Given the description of an element on the screen output the (x, y) to click on. 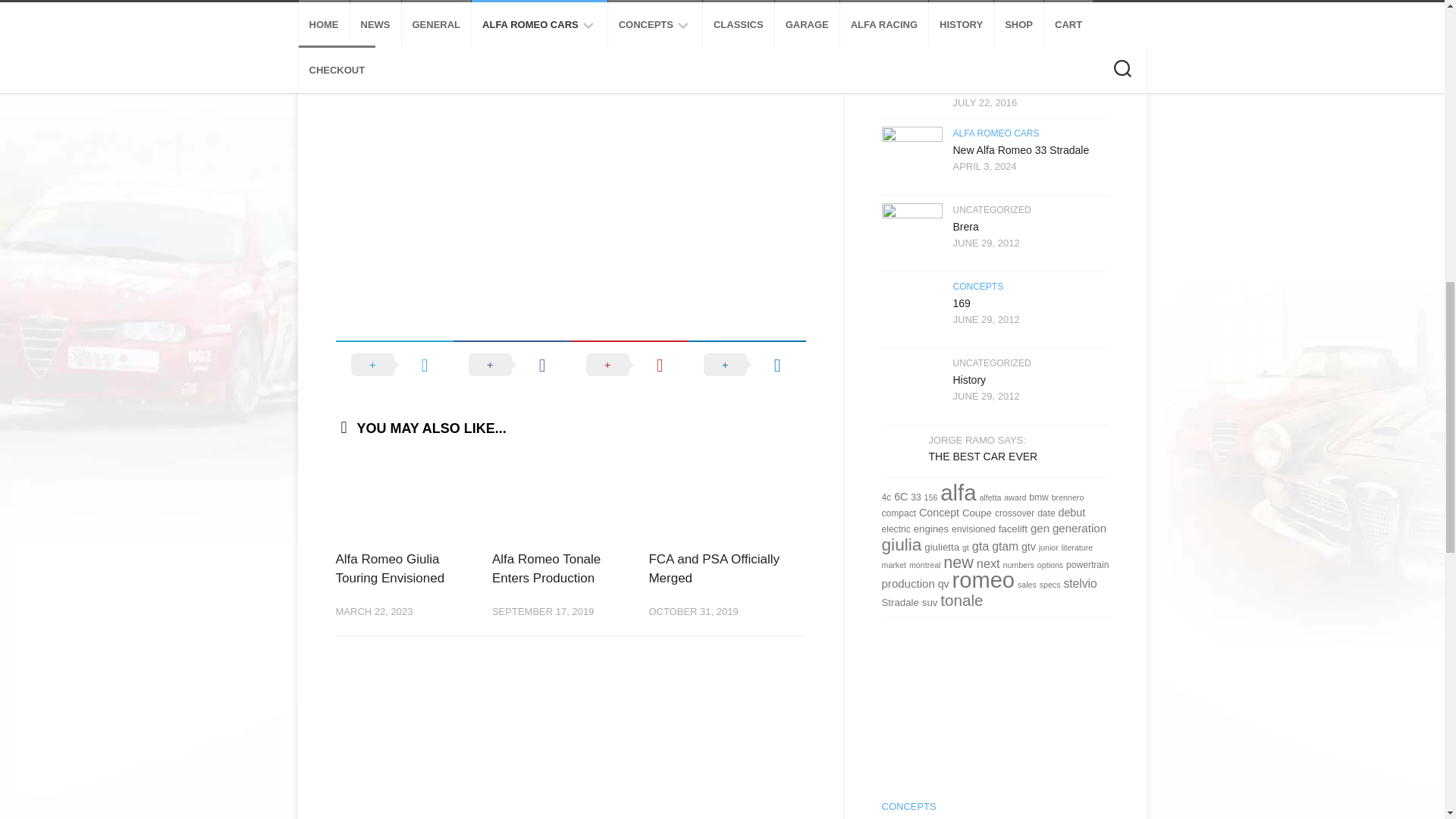
Share on LinkedIn (747, 364)
Share on X (393, 364)
Share on Facebook (511, 364)
Share on Pinterest (628, 364)
